Given the description of an element on the screen output the (x, y) to click on. 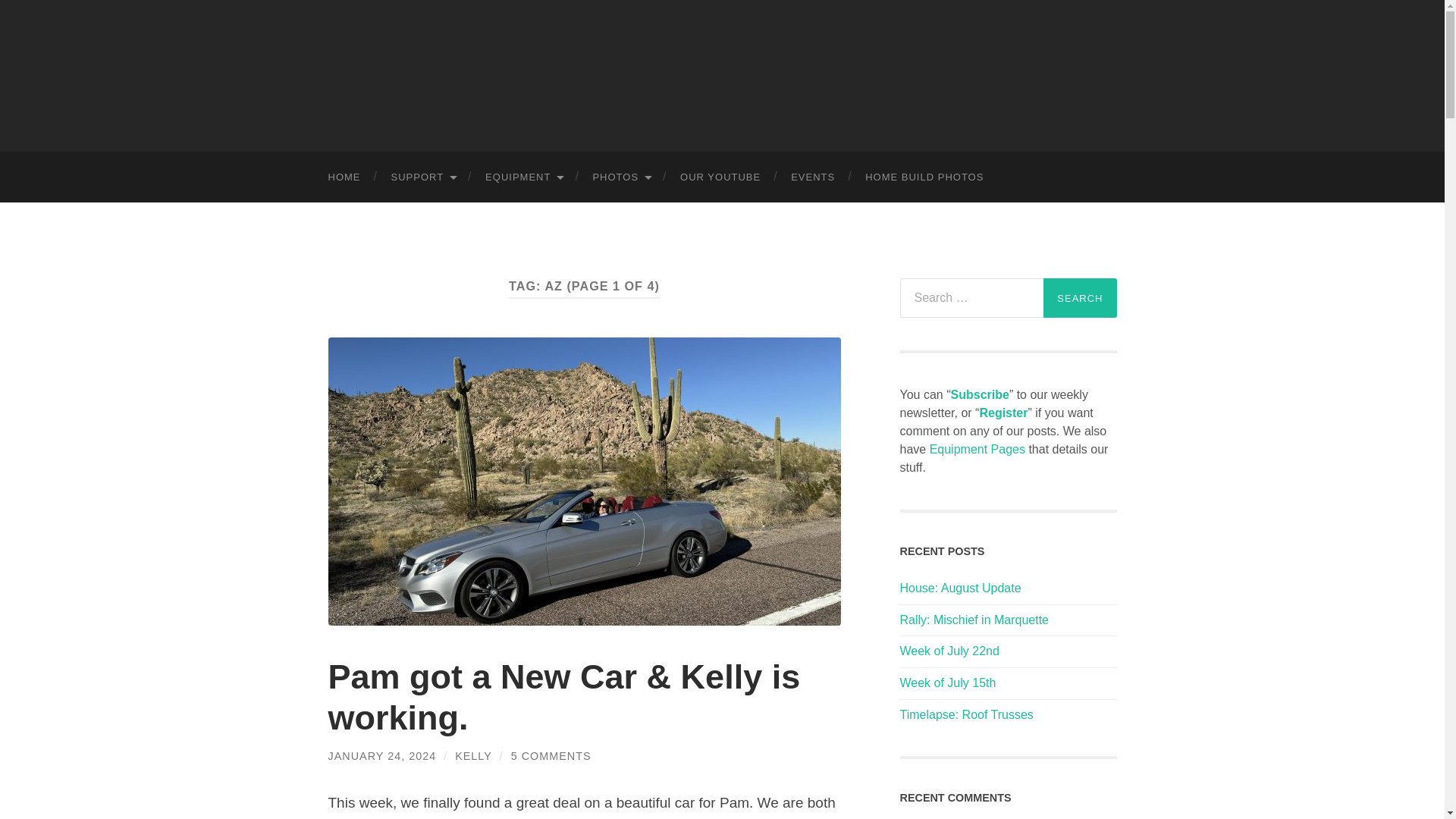
SUPPORT (422, 176)
Search (1079, 297)
EQUIPMENT (523, 176)
OUR YOUTUBE (720, 176)
EVENTS (813, 176)
Search (1079, 297)
HOME BUILD PHOTOS (924, 176)
HOME (344, 176)
Posts by Kelly (473, 756)
PHOTOS (620, 176)
